Given the description of an element on the screen output the (x, y) to click on. 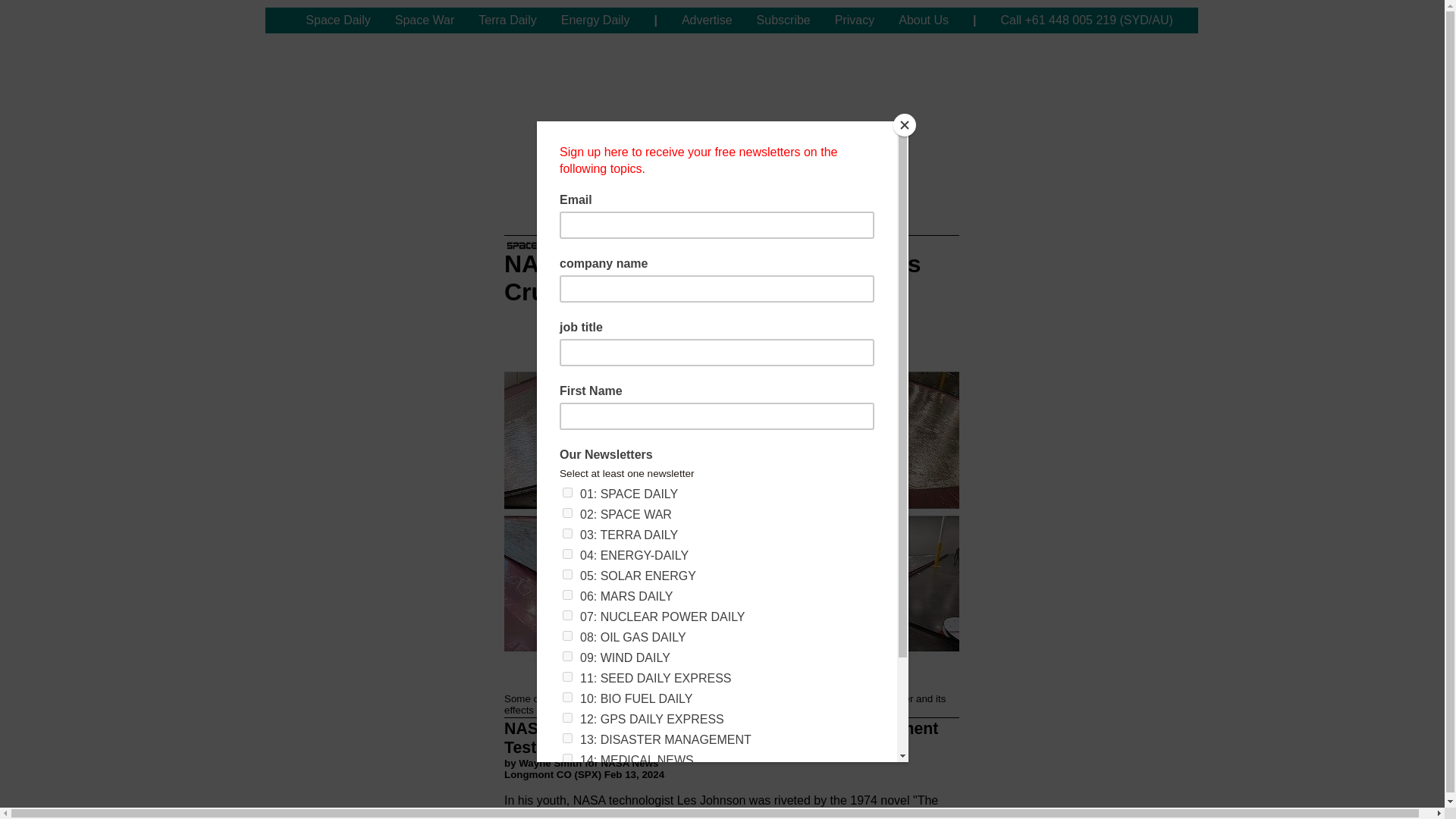
Privacy (854, 20)
- (279, 20)
Subscribe (783, 20)
Advertise (706, 20)
Advertisement (731, 103)
Terra Daily (506, 20)
Space Daily (337, 20)
Energy Daily (595, 20)
Space War (424, 20)
